Given the description of an element on the screen output the (x, y) to click on. 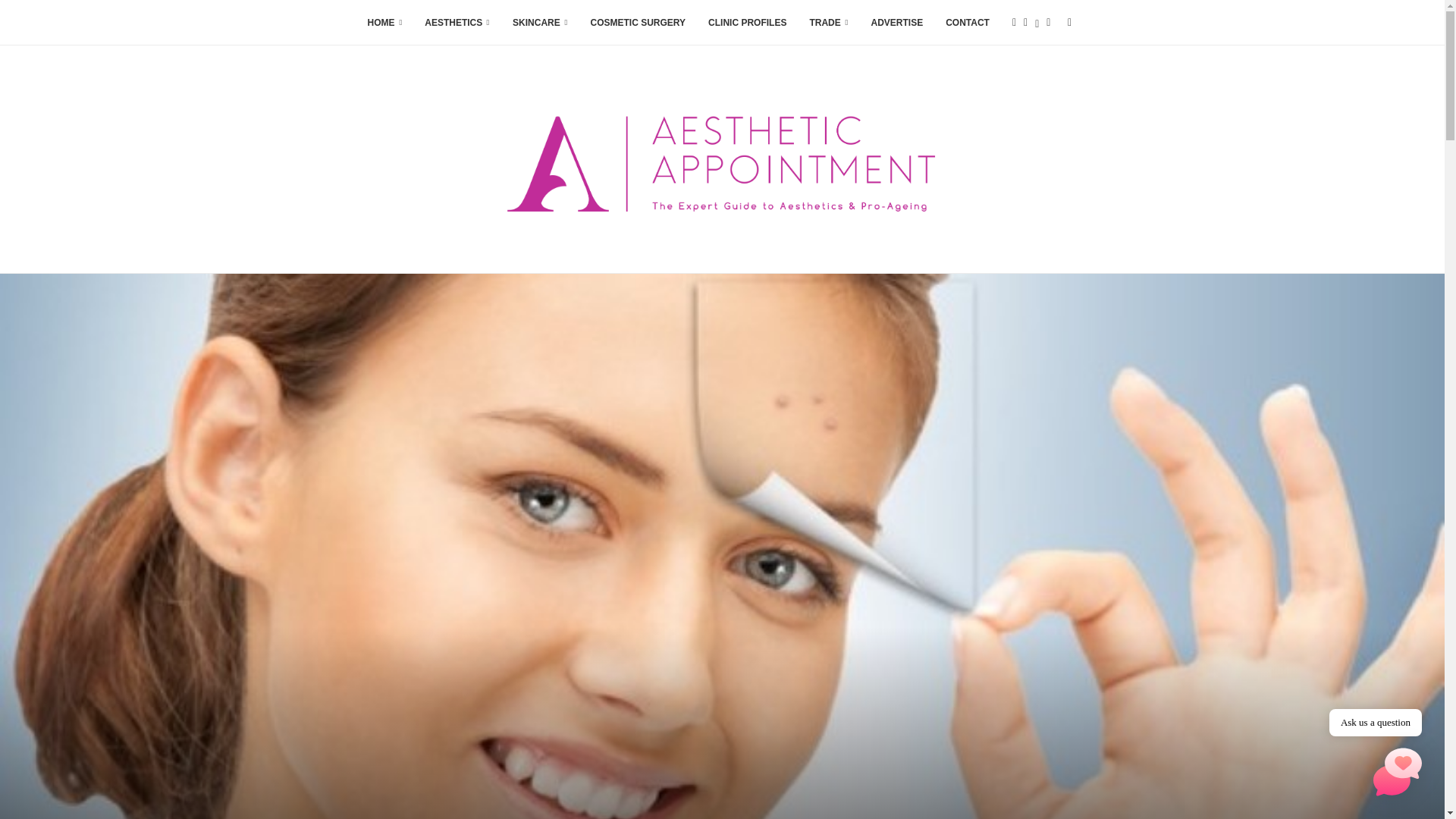
CLINIC PROFILES (746, 22)
CONTACT (967, 22)
AESTHETICS (457, 22)
ADVERTISE (896, 22)
SKINCARE (539, 22)
COSMETIC SURGERY (637, 22)
